Given the description of an element on the screen output the (x, y) to click on. 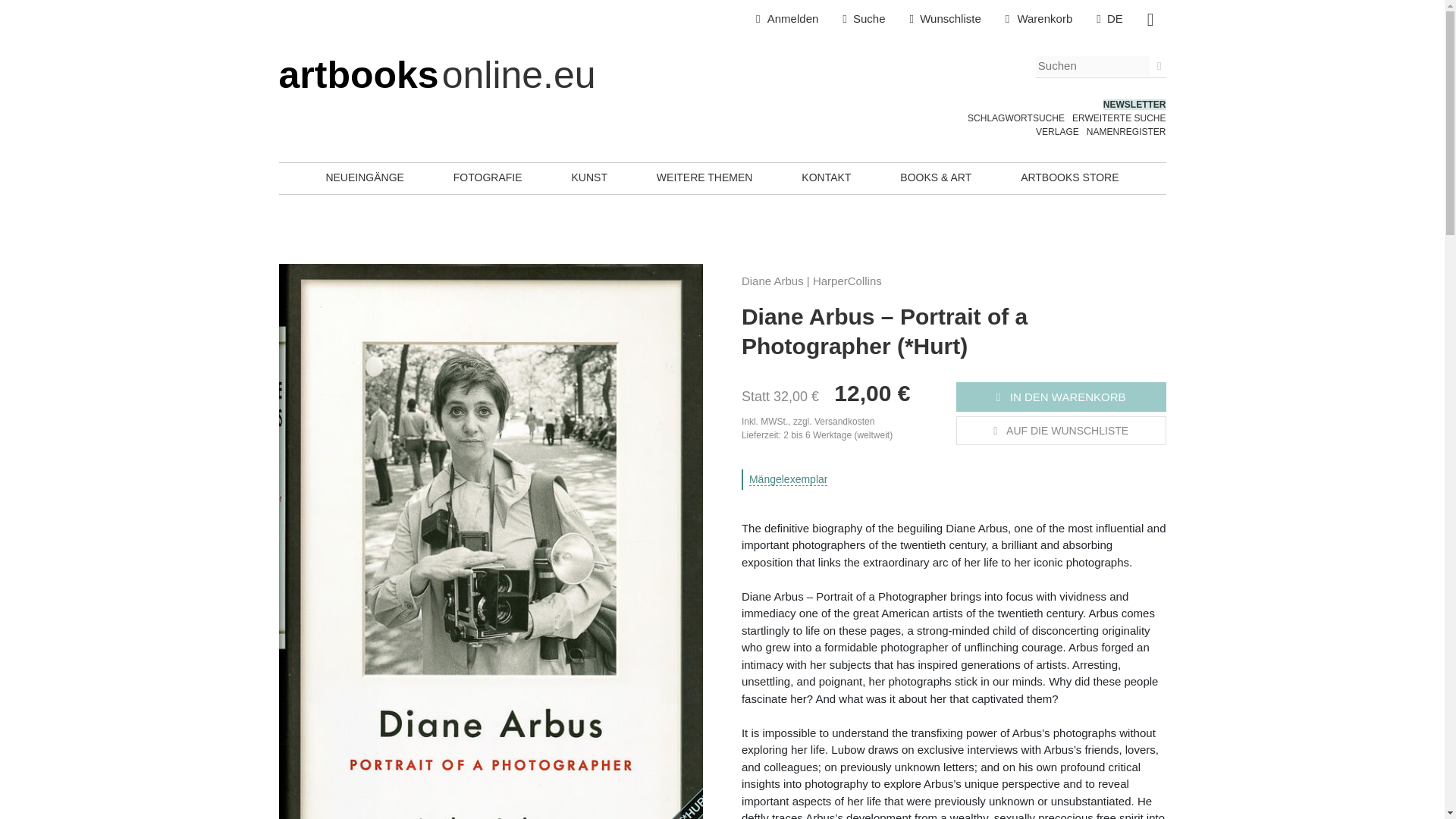
artbooksonline.eu (437, 75)
NAMENREGISTER (1126, 131)
Wunschliste (945, 19)
Suche (862, 19)
SCHLAGWORTSUCHE (1016, 118)
DE (1109, 19)
NEWSLETTER (1134, 104)
VERLAGE (1056, 131)
FOTOGRAFIE (487, 177)
ERWEITERTE SUCHE (1118, 118)
Warenkorb (1038, 19)
Anmelden (786, 19)
